Given the description of an element on the screen output the (x, y) to click on. 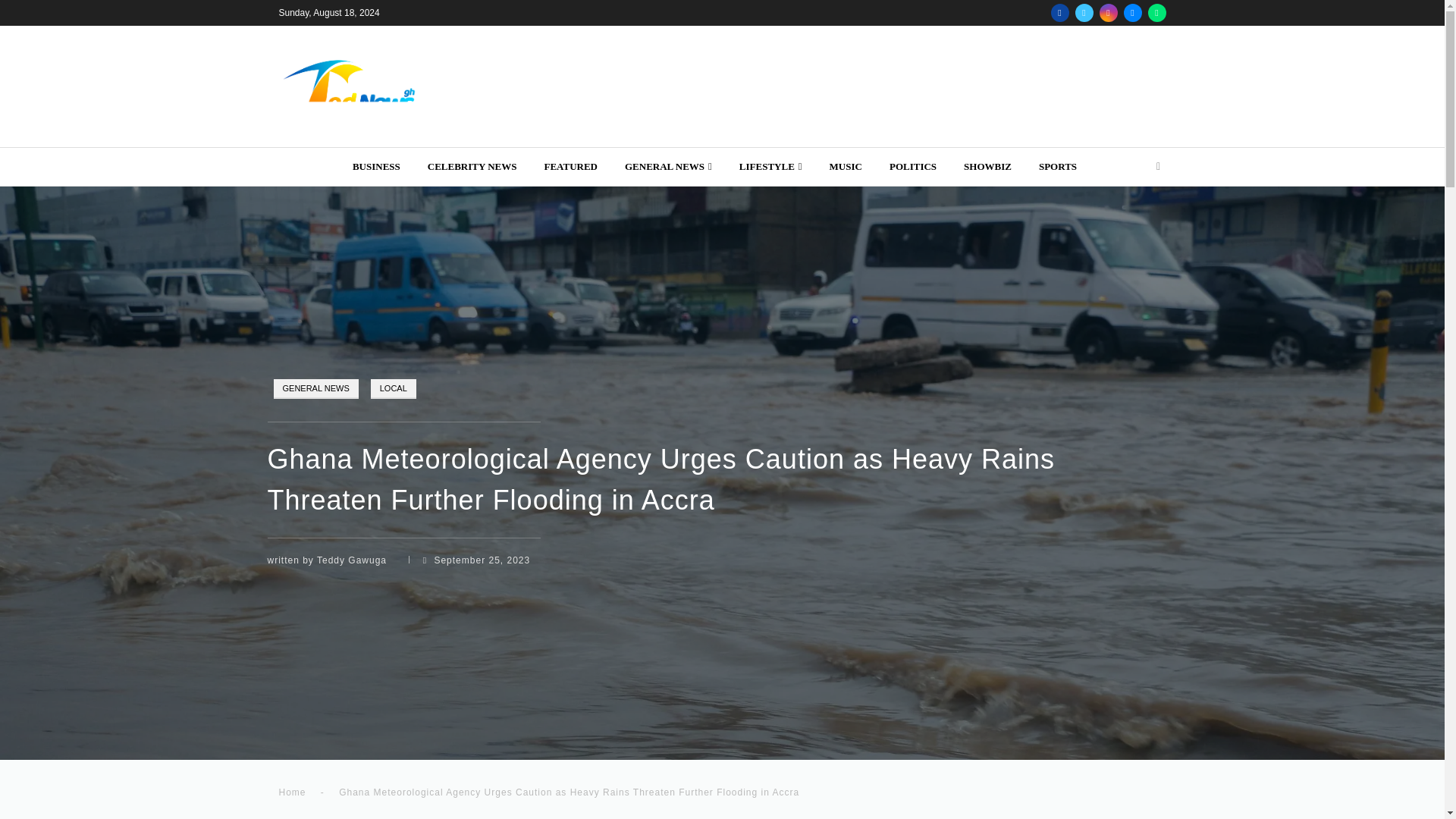
MUSIC (845, 166)
BUSINESS (376, 166)
FEATURED (569, 166)
SHOWBIZ (987, 166)
LIFESTYLE (770, 166)
CELEBRITY NEWS (472, 166)
SPORTS (1058, 166)
POLITICS (912, 166)
GENERAL NEWS (667, 166)
